Given the description of an element on the screen output the (x, y) to click on. 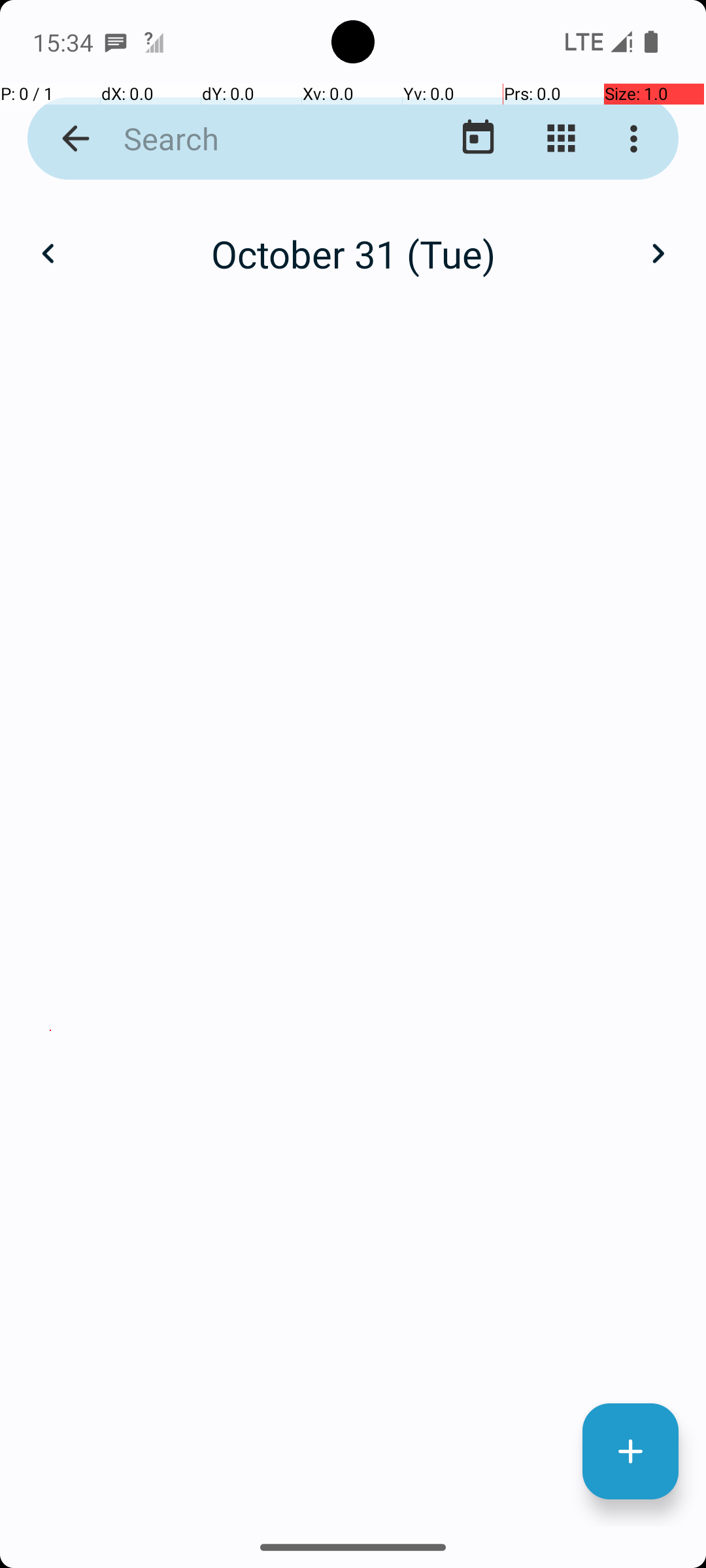
October 31 (Tue) Element type: android.widget.TextView (352, 253)
